Given the description of an element on the screen output the (x, y) to click on. 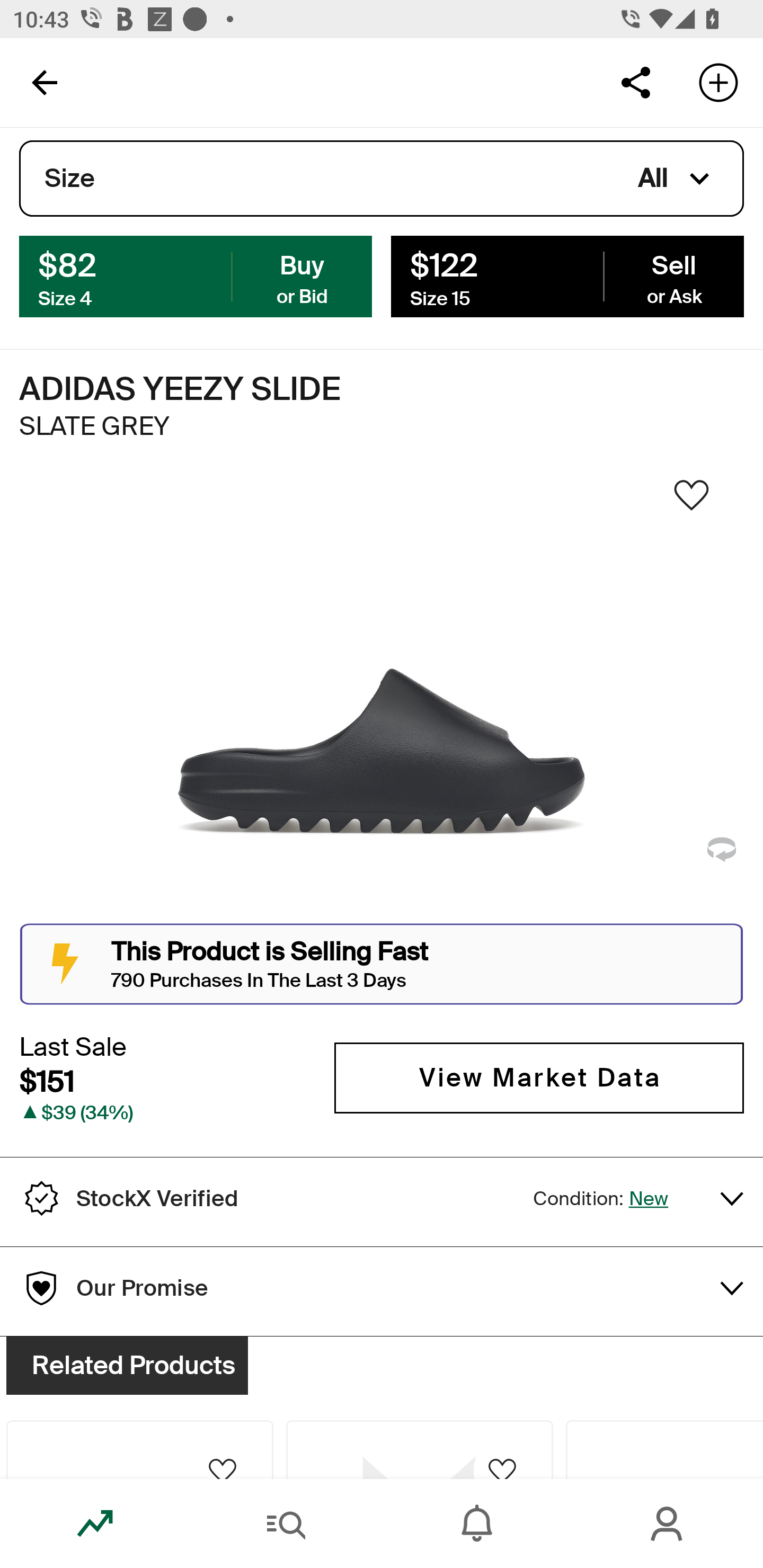
Share (635, 81)
Add (718, 81)
Size All (381, 178)
$82 Buy Size 4 or Bid (195, 275)
$122 Sell Size 15 or Ask (566, 275)
Sneaker Image (381, 699)
View Market Data (538, 1077)
Search (285, 1523)
Inbox (476, 1523)
Account (667, 1523)
